Given the description of an element on the screen output the (x, y) to click on. 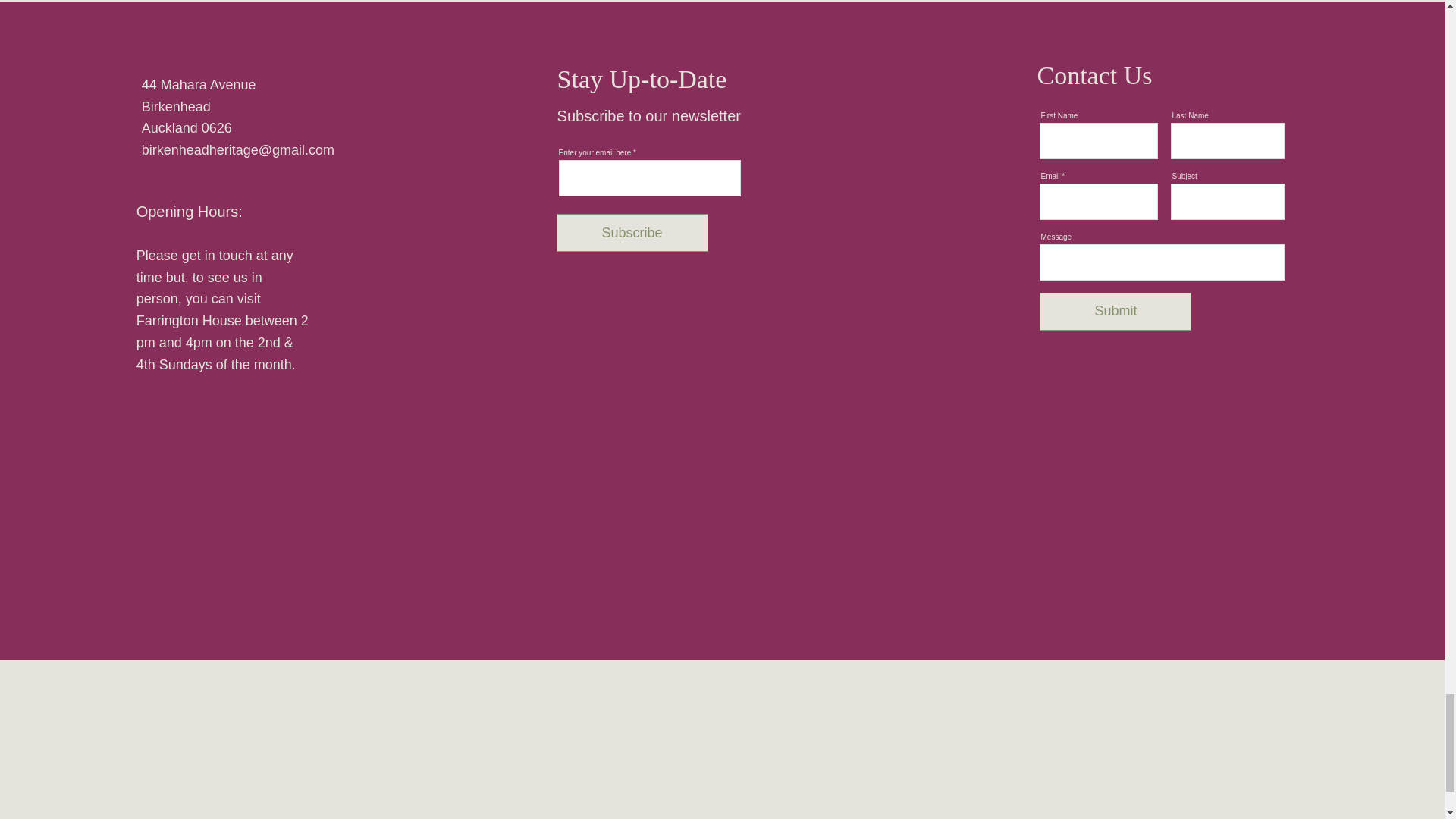
Subscribe (631, 232)
